Given the description of an element on the screen output the (x, y) to click on. 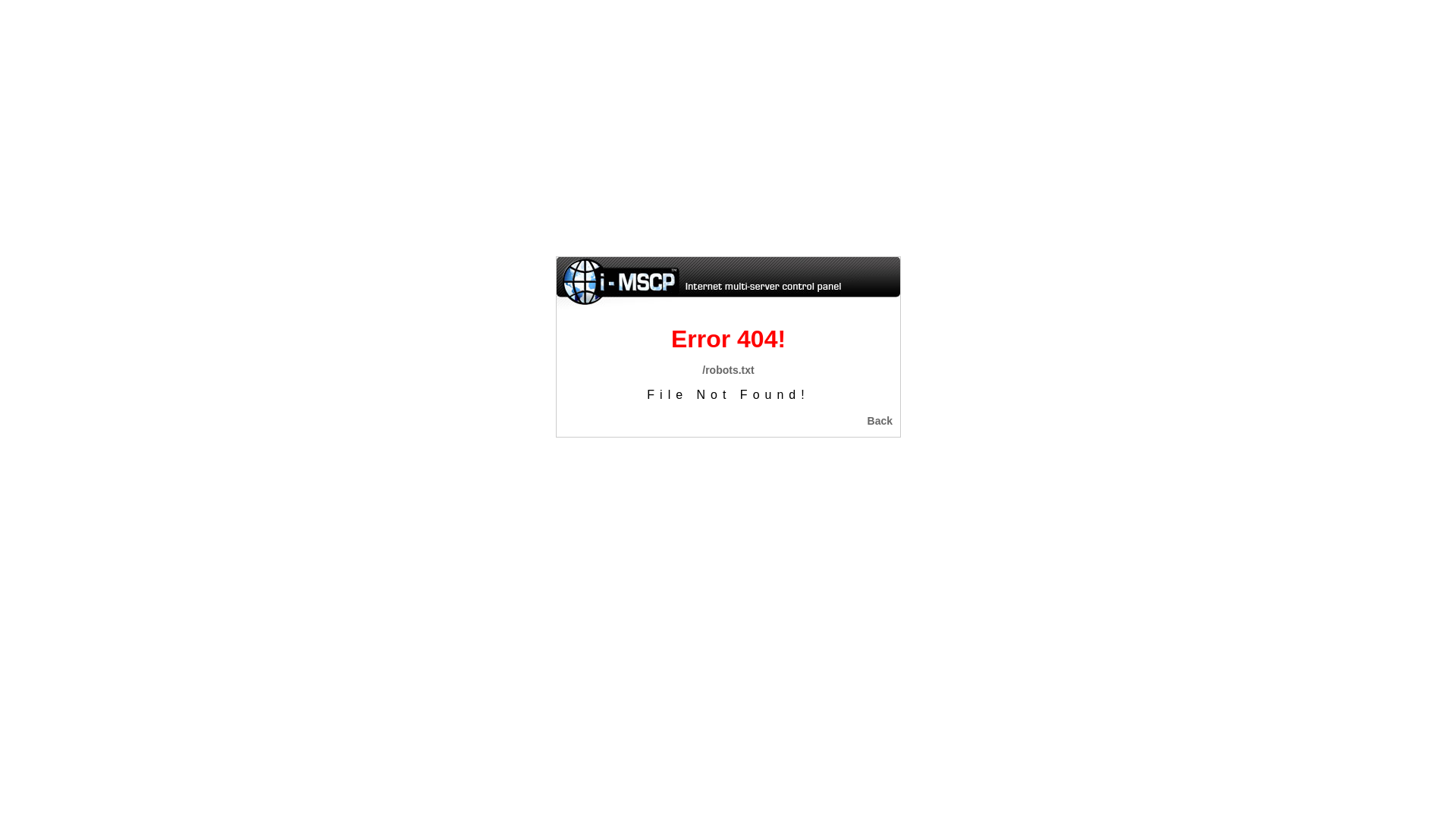
Back Element type: text (879, 420)
